Given the description of an element on the screen output the (x, y) to click on. 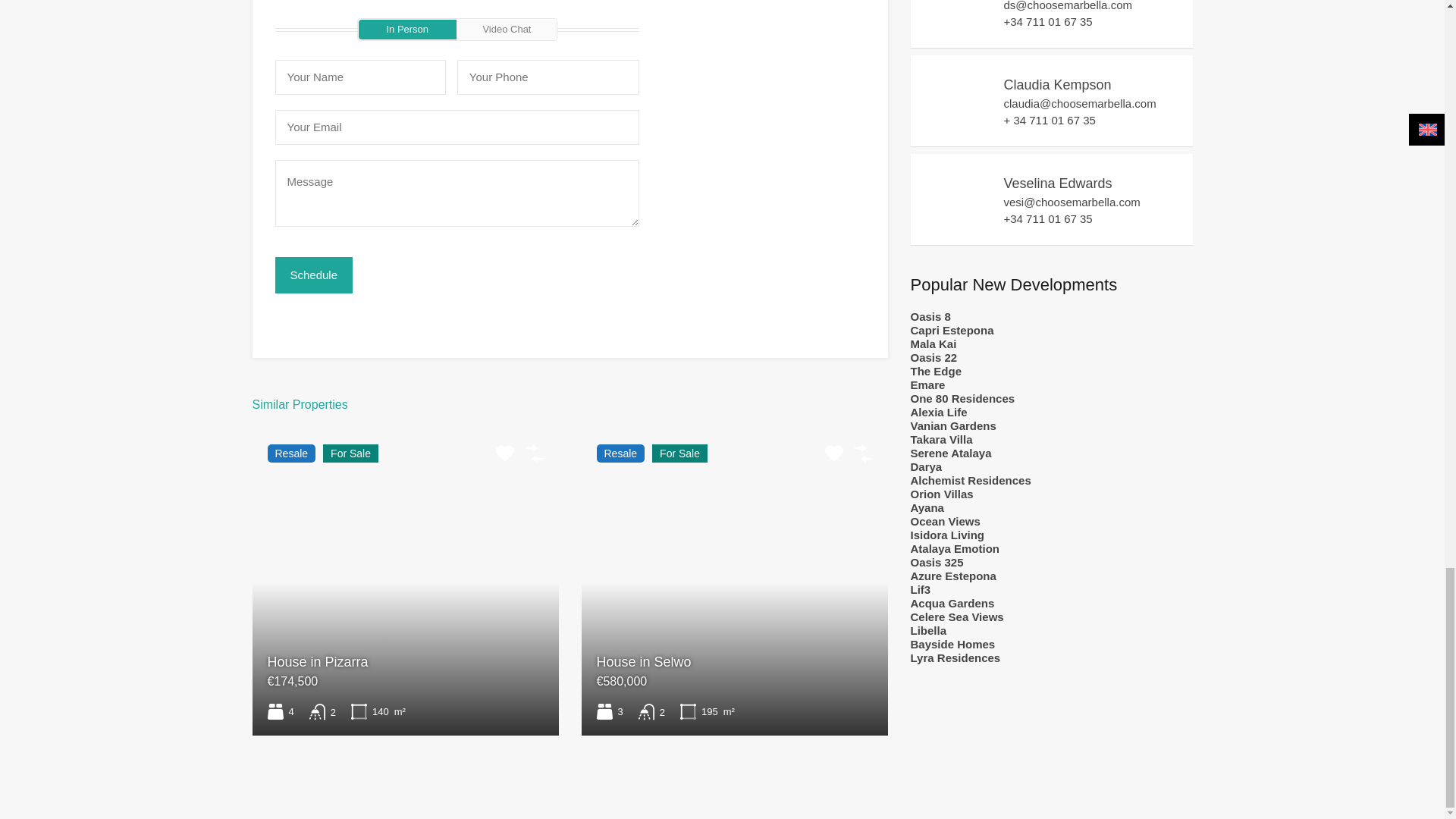
Provide your email ID (457, 126)
Schedule (313, 275)
Provide your name (360, 77)
